Given the description of an element on the screen output the (x, y) to click on. 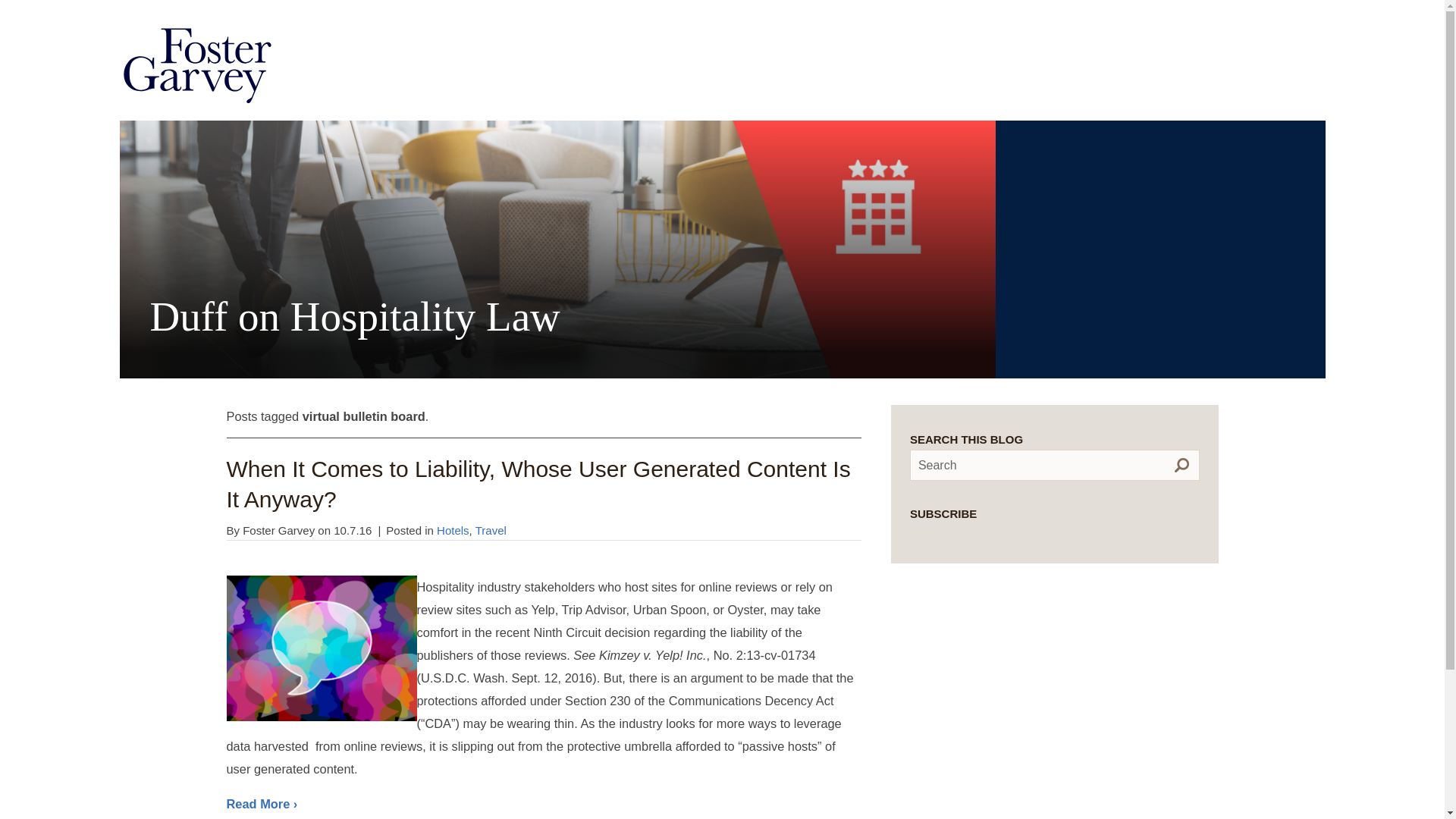
Travel (491, 530)
Hotels (452, 530)
